Given the description of an element on the screen output the (x, y) to click on. 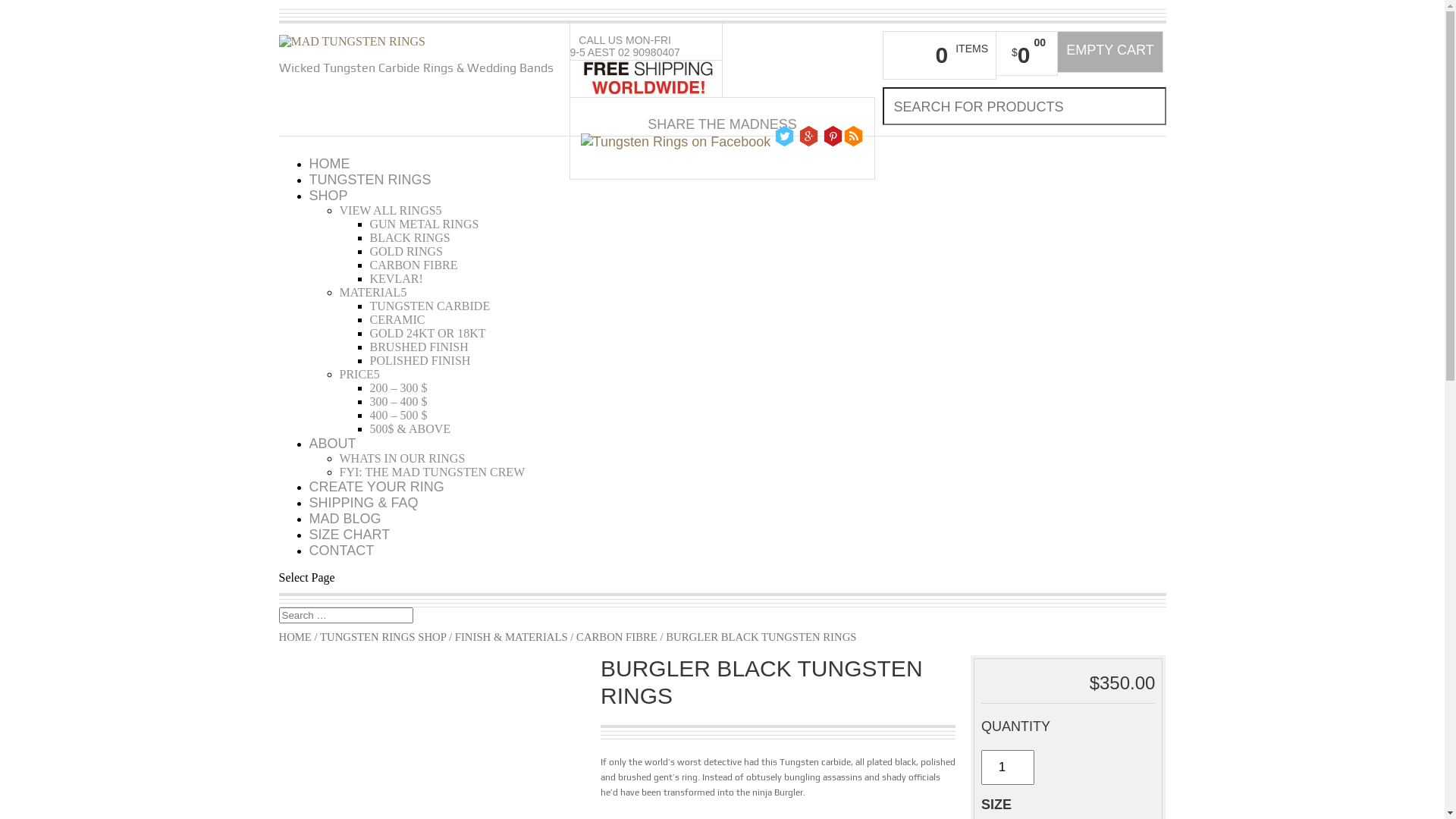
SIZE CHART Element type: text (349, 534)
FYI: THE MAD TUNGSTEN CREW Element type: text (432, 471)
TUNGSTEN RINGS SHOP Element type: text (382, 636)
FINISH & MATERIALS Element type: text (511, 636)
BLACK RINGS Element type: text (410, 237)
MATERIAL Element type: text (373, 291)
CONTACT Element type: text (341, 550)
Follow Tungsten Rings on Blogger Element type: hover (853, 135)
KEVLAR! Element type: text (396, 278)
SHOP Element type: text (328, 195)
 Follow Tungsten Rings on Twitter Element type: hover (784, 135)
TUNGSTEN RINGS Element type: text (370, 179)
GOLD 24KT OR 18KT Element type: text (428, 332)
BRUSHED FINISH Element type: text (419, 346)
GOLD RINGS Element type: text (406, 250)
CERAMIC Element type: text (397, 319)
TUNGSTEN CARBIDE Element type: text (430, 305)
 Follow Tungsten Rings on Google Plus Element type: hover (808, 135)
500$ & ABOVE Element type: text (410, 428)
 Follow Tungsten Rings on Facebook Element type: hover (675, 141)
PRICE Element type: text (359, 373)
WHATS IN OUR RINGS Element type: text (402, 457)
EMPTY CART Element type: text (1110, 51)
VIEW ALL RINGS Element type: text (390, 209)
MAD BLOG Element type: text (345, 518)
HOME Element type: text (329, 163)
HOME Element type: text (295, 636)
GUN METAL RINGS Element type: text (424, 223)
Search for: Element type: hover (346, 615)
Mad tungsten rings Element type: hover (352, 40)
Follow Tungsten Rings on Pinterest Element type: hover (832, 135)
Qty Element type: hover (1007, 766)
CARBON FIBRE Element type: text (616, 636)
POLISHED FINISH Element type: text (420, 360)
CREATE YOUR RING Element type: text (376, 486)
SHIPPING & FAQ Element type: text (363, 502)
Mad tungsten rings Element type: hover (352, 41)
ABOUT Element type: text (332, 443)
CARBON FIBRE Element type: text (414, 264)
